Given the description of an element on the screen output the (x, y) to click on. 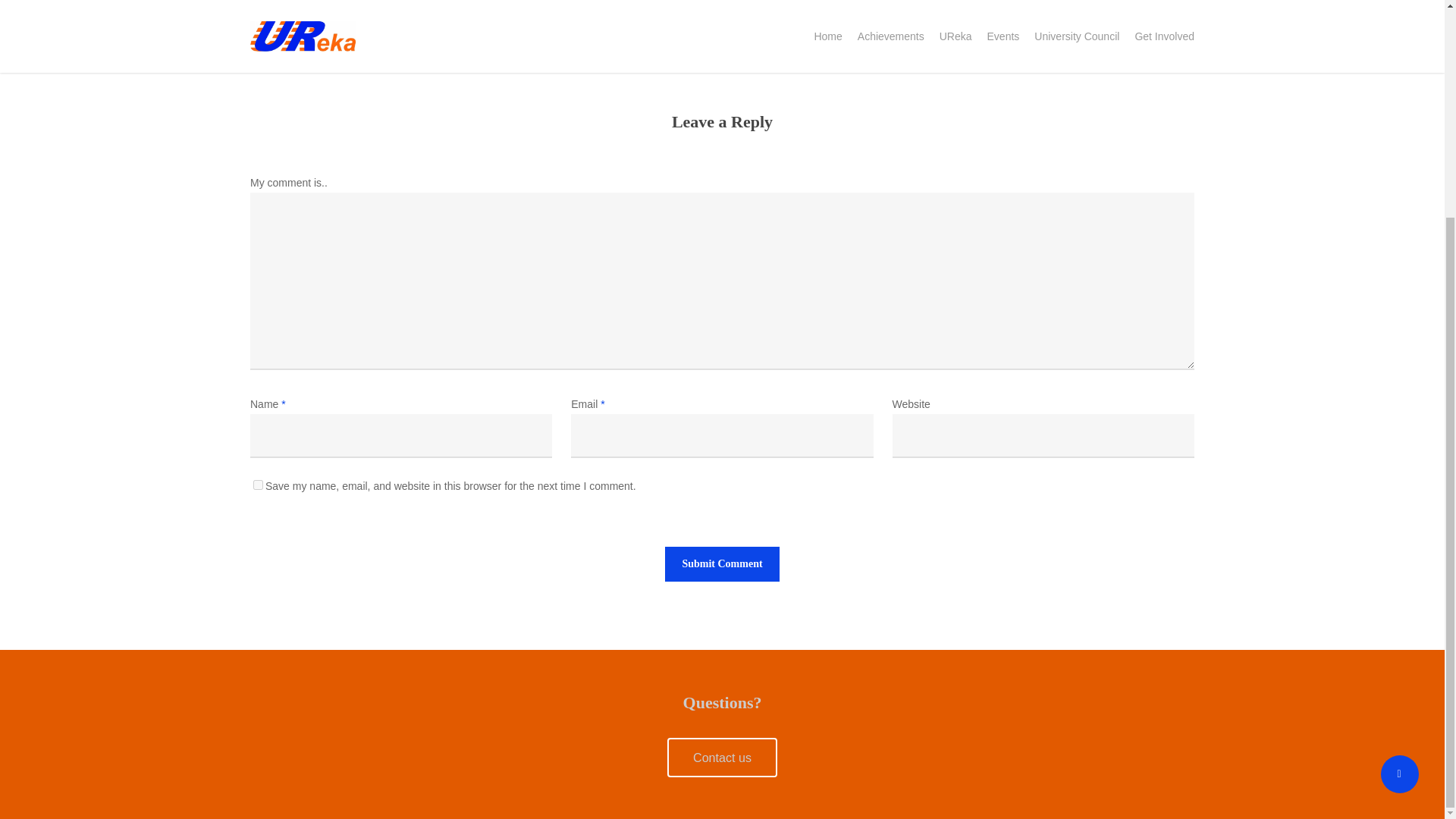
Contact us (721, 757)
Submit Comment (721, 564)
yes (258, 484)
Submit Comment (721, 564)
